Given the description of an element on the screen output the (x, y) to click on. 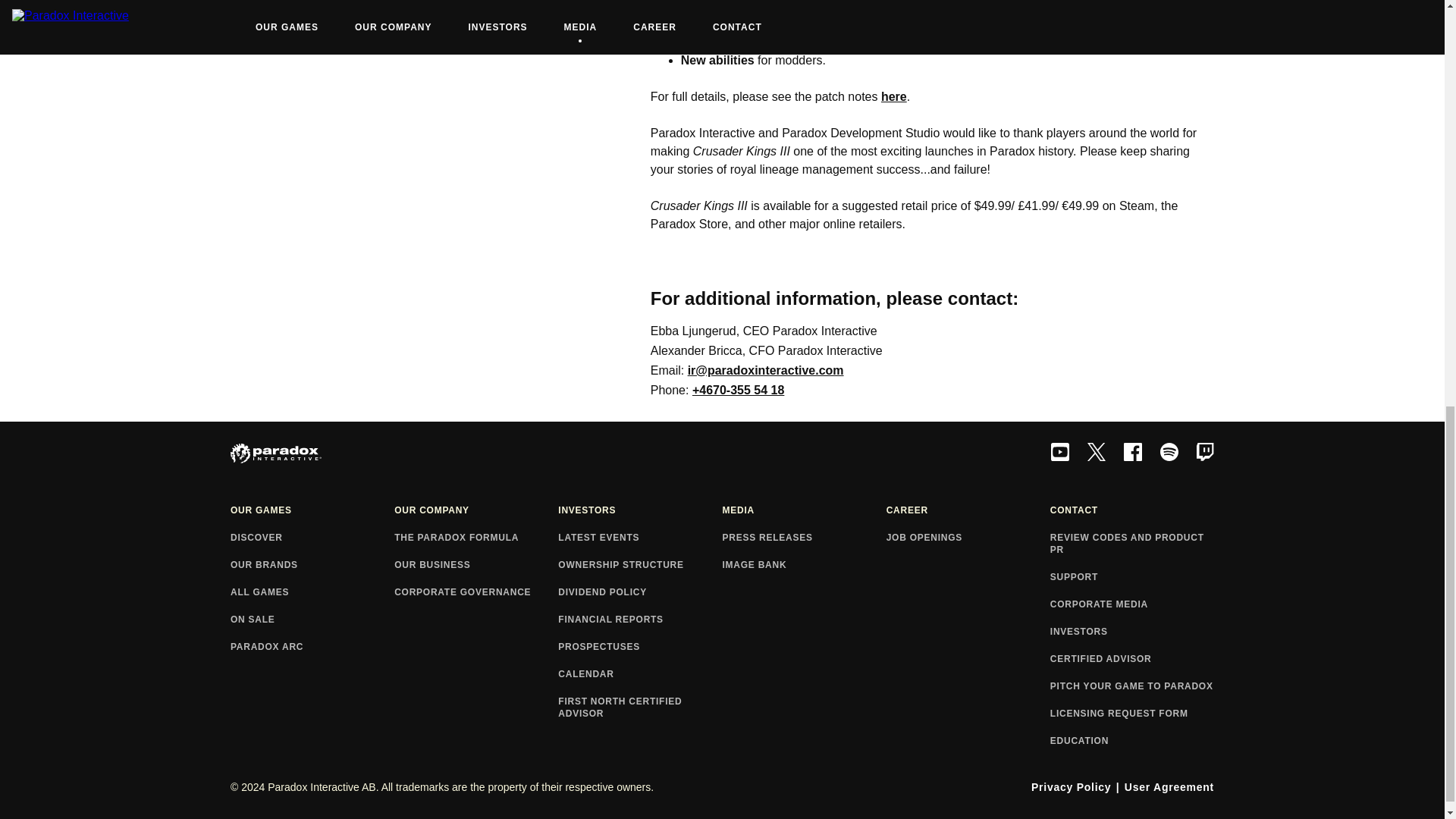
CALENDAR (639, 674)
ALL GAMES (312, 592)
THE PARADOX FORMULA (475, 538)
PARADOX ARC (312, 646)
DISCOVER (312, 538)
Paradox on Twitch (1205, 453)
PROSPECTUSES (639, 646)
Paradox on Facebook (1133, 453)
OUR GAMES (312, 510)
DIVIDEND POLICY (639, 592)
OWNERSHIP STRUCTURE (639, 565)
FINANCIAL REPORTS (639, 619)
OUR BUSINESS (475, 565)
ON SALE (312, 619)
Paradox on Spotify (1169, 453)
